Given the description of an element on the screen output the (x, y) to click on. 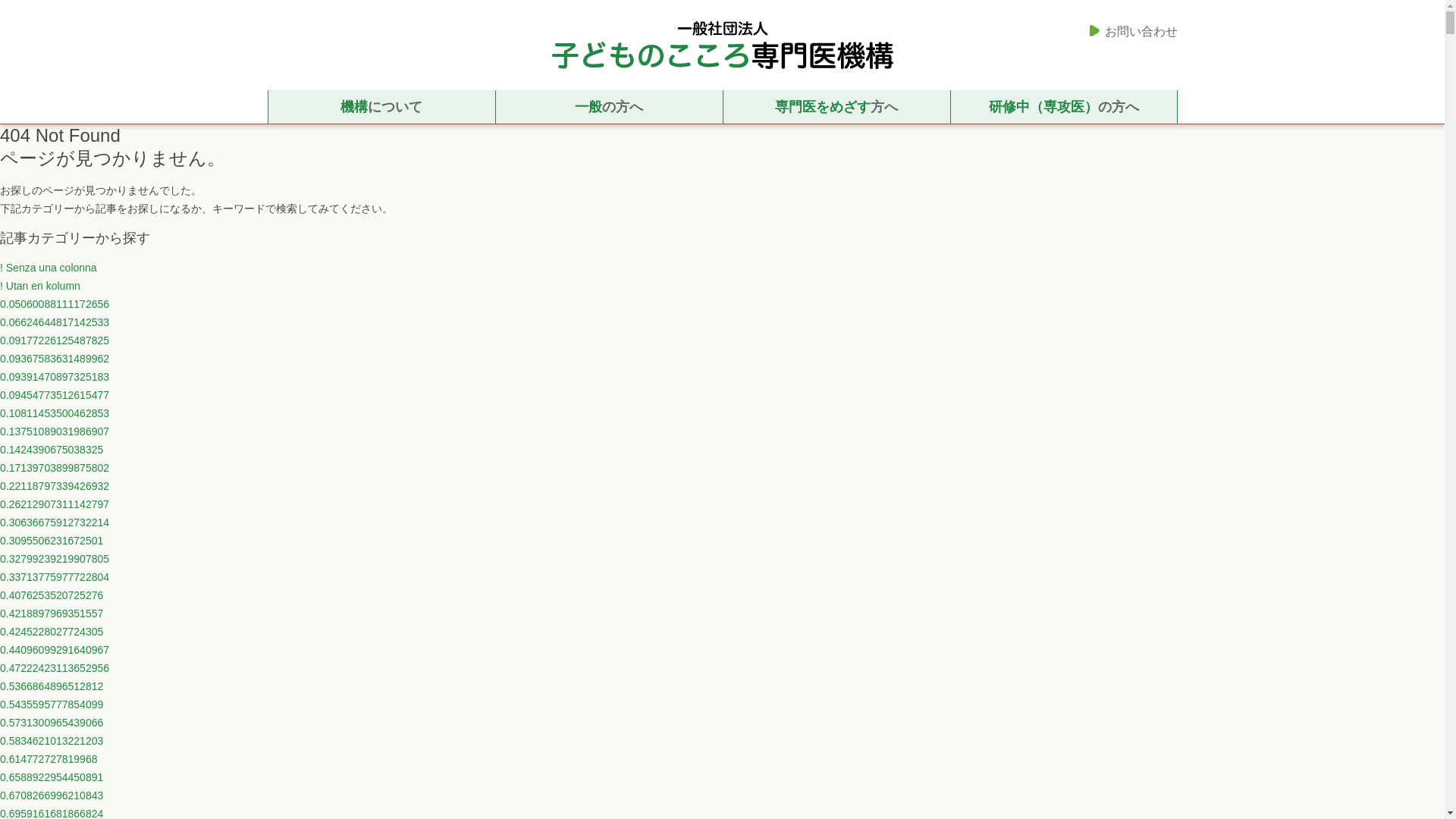
0.10811453500462853 (54, 413)
0.09391470897325183 (54, 377)
0.09177226125487825 (54, 340)
0.13751089031986907 (54, 431)
0.09367583631489962 (54, 358)
0.22118797339426932 (54, 485)
0.06624644817142533 (54, 322)
0.26212907311142797 (54, 503)
0.1424390675038325 (51, 449)
! Utan en kolumn (40, 285)
0.05060088111172656 (54, 304)
0.30636675912732214 (54, 522)
0.09454773512615477 (54, 395)
0.3095506231672501 (51, 540)
0.17139703899875802 (54, 467)
